Given the description of an element on the screen output the (x, y) to click on. 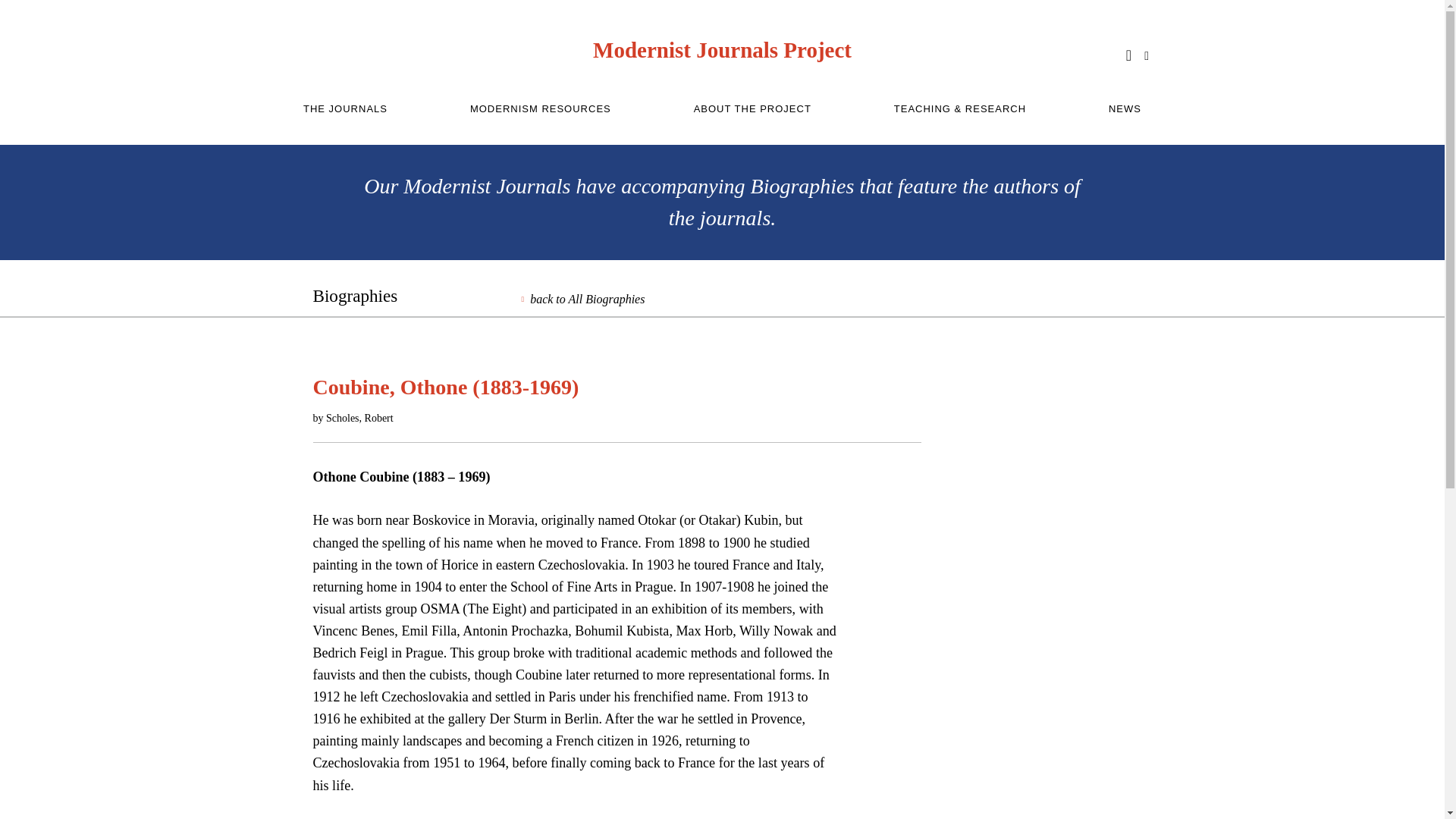
NEWS (1124, 108)
ABOUT THE PROJECT (752, 108)
MODERNISM RESOURCES (540, 108)
THE JOURNALS (344, 108)
back to All Biographies (583, 298)
Modernist Journals Project (721, 49)
